Given the description of an element on the screen output the (x, y) to click on. 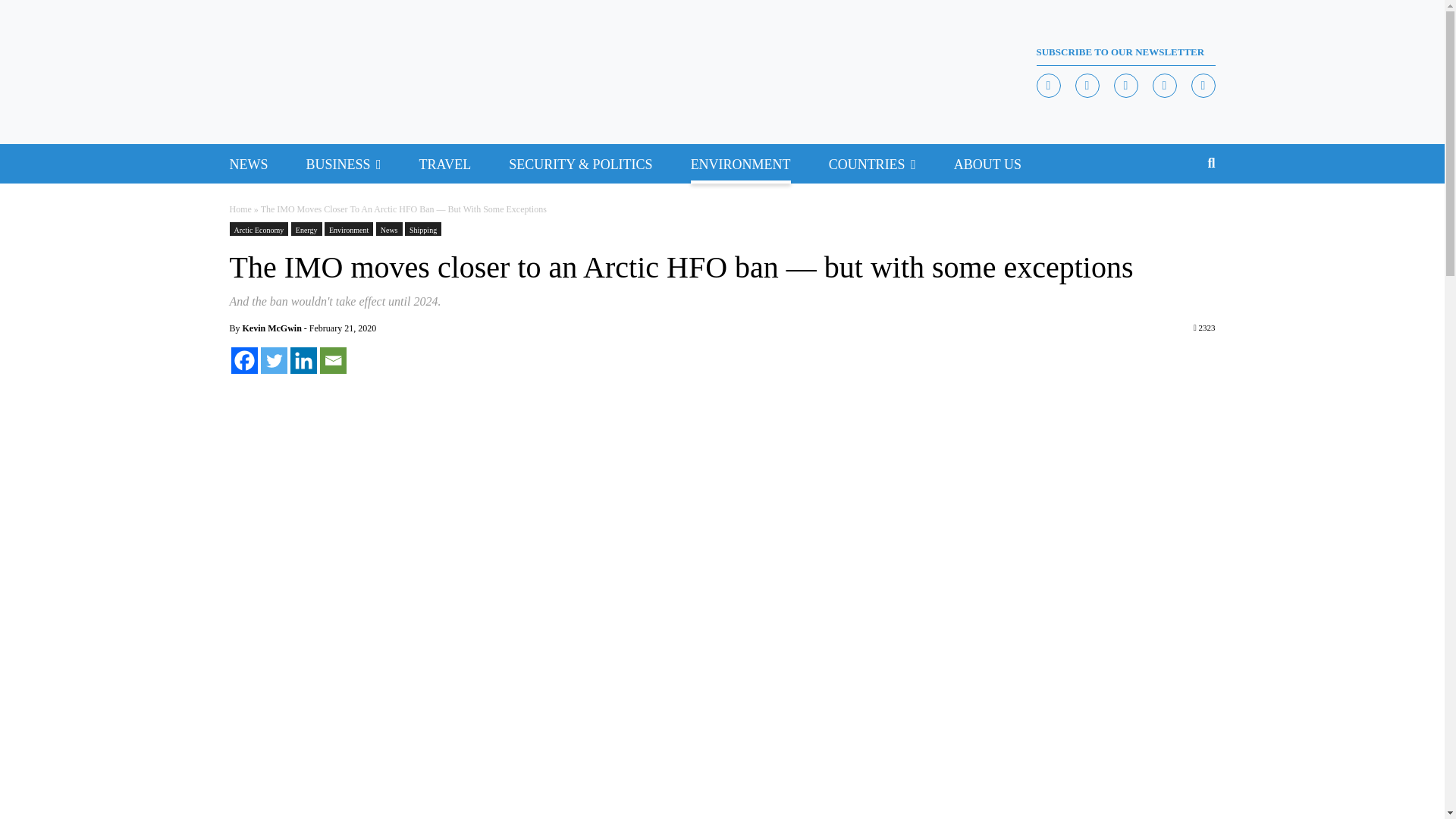
NEWS (247, 163)
BUSINESS (338, 163)
SUBSCRIBE TO OUR NEWSLETTER (1124, 51)
